Given the description of an element on the screen output the (x, y) to click on. 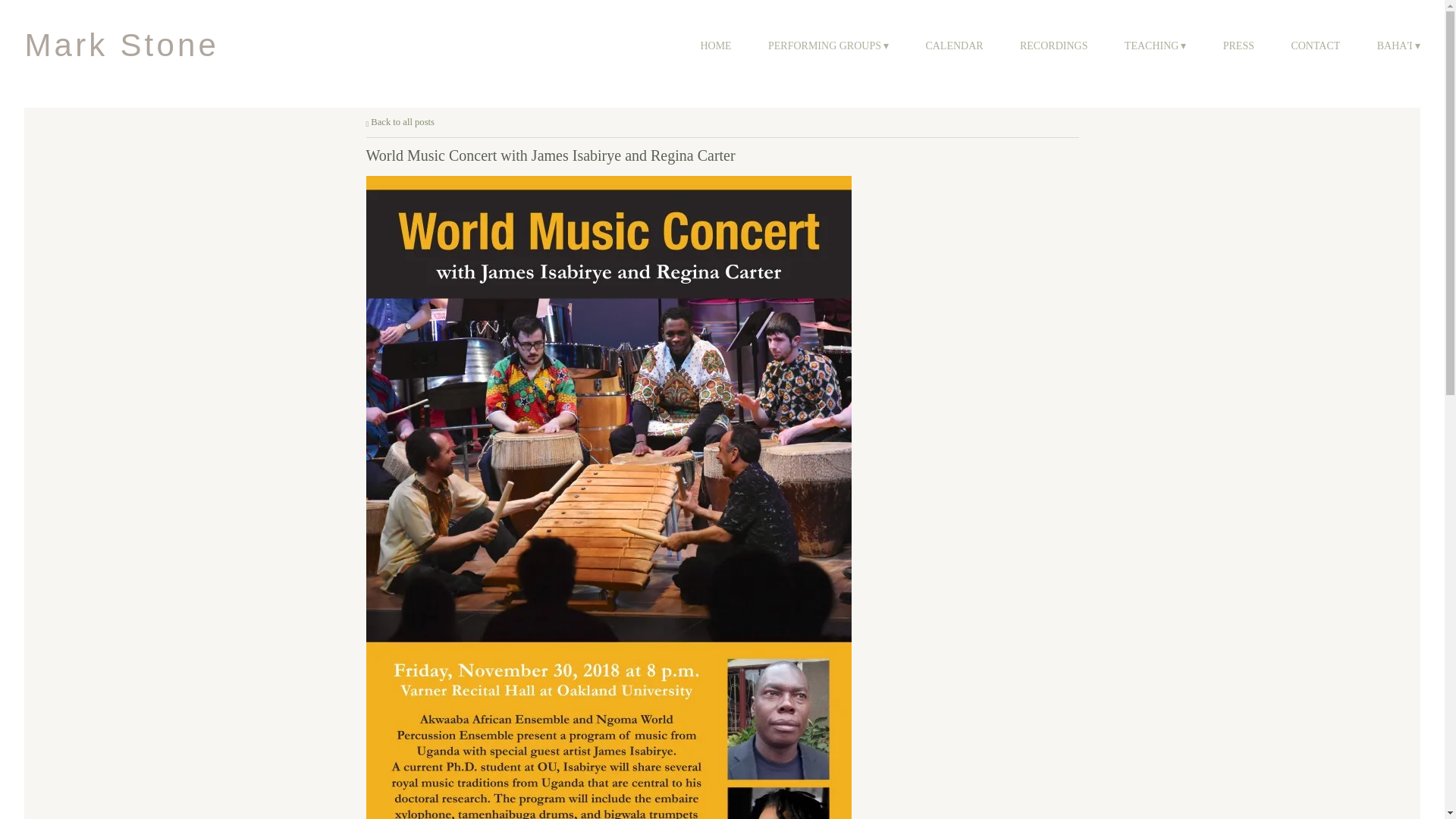
BAHA'I (1399, 46)
CALENDAR (953, 46)
Mark Stone (121, 45)
Back to all posts (399, 122)
PERFORMING GROUPS (828, 46)
TEACHING (1155, 46)
HOME (715, 46)
RECORDINGS (1053, 46)
PRESS (1238, 46)
CONTACT (1314, 46)
